Given the description of an element on the screen output the (x, y) to click on. 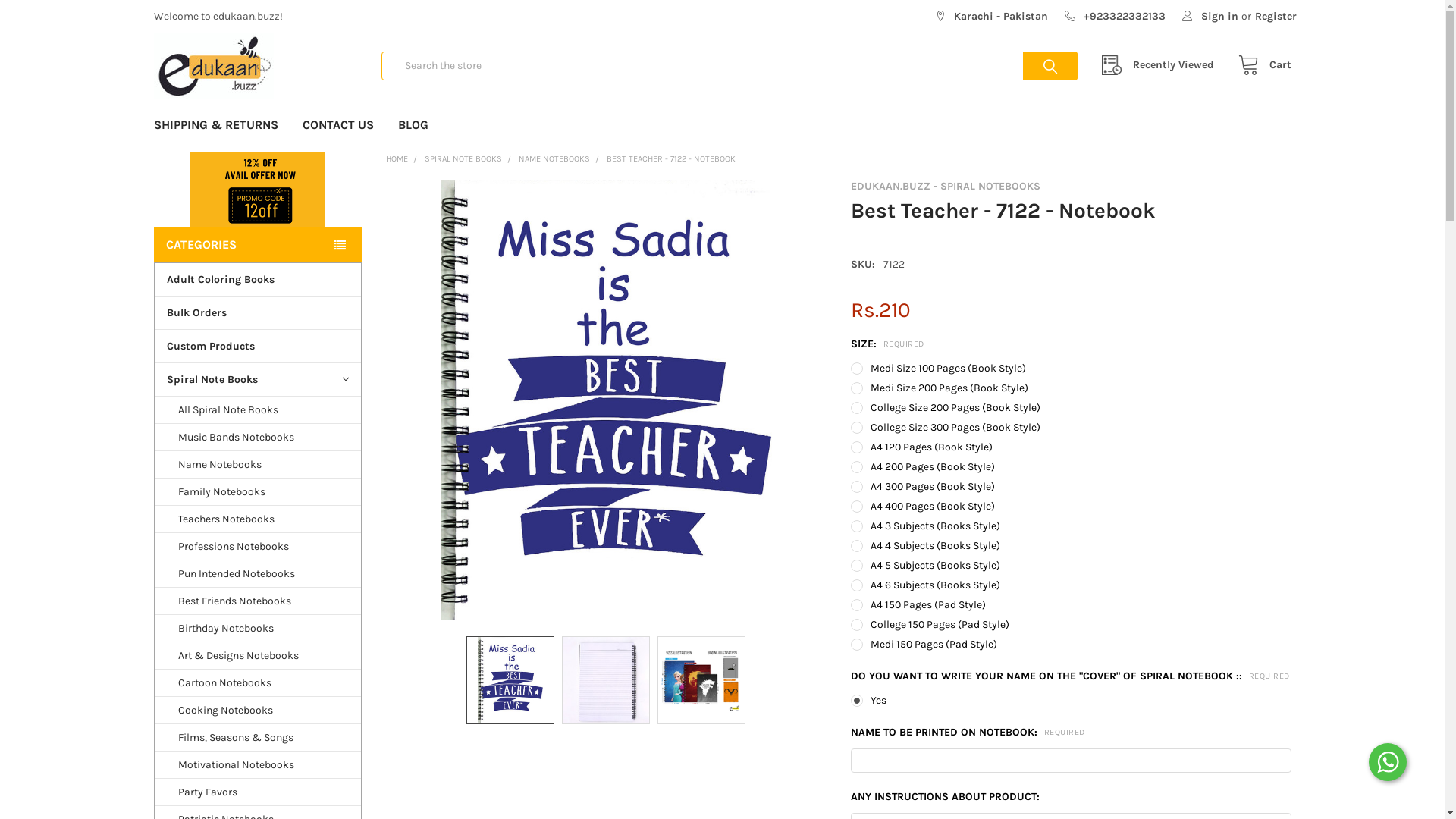
SHIPPING & RETURNS Element type: text (215, 124)
Sign in Element type: text (1209, 12)
Register Element type: text (1274, 12)
Bulk Orders Element type: text (257, 312)
Best Friends Notebooks Element type: text (257, 601)
Best Teacher - 7122 - Notebook Element type: hover (701, 680)
Party Favors Element type: text (257, 792)
Motivational Notebooks Element type: text (257, 764)
Spiral Note Books Element type: text (257, 378)
Best Teacher - 7122 - Notebook Element type: hover (605, 680)
Custom Products Element type: text (257, 345)
Family Notebooks Element type: text (257, 491)
Adult Coloring Books Element type: text (257, 279)
Search Element type: text (1034, 66)
Cartoon Notebooks Element type: text (257, 682)
BLOG Element type: text (412, 124)
Art & Designs Notebooks Element type: text (257, 655)
Pun Intended Notebooks Element type: text (257, 573)
Cart Element type: text (1260, 65)
+923322332133 Element type: text (1114, 12)
EDUKAAN.BUZZ - SPIRAL NOTEBOOKS Element type: text (945, 185)
Best Teacher - 7122 - Notebook Element type: hover (510, 680)
All Spiral Note Books Element type: text (257, 409)
SPIRAL NOTE BOOKS Element type: text (463, 158)
NAME NOTEBOOKS Element type: text (553, 158)
HOME Element type: text (396, 158)
Recently Viewed Element type: text (1161, 65)
CATEGORIES Element type: text (256, 244)
BEST TEACHER - 7122 - NOTEBOOK Element type: text (670, 158)
Birthday Notebooks Element type: text (257, 628)
Music Bands Notebooks Element type: text (257, 437)
Professions Notebooks Element type: text (257, 546)
edukaan.buzz Element type: hover (213, 65)
CONTACT US Element type: text (337, 124)
Name Notebooks Element type: text (257, 464)
Films, Seasons & Songs Element type: text (257, 737)
Cooking Notebooks Element type: text (257, 710)
Best Teacher - 7122 - Notebook Element type: hover (605, 399)
Teachers Notebooks Element type: text (257, 519)
